Given the description of an element on the screen output the (x, y) to click on. 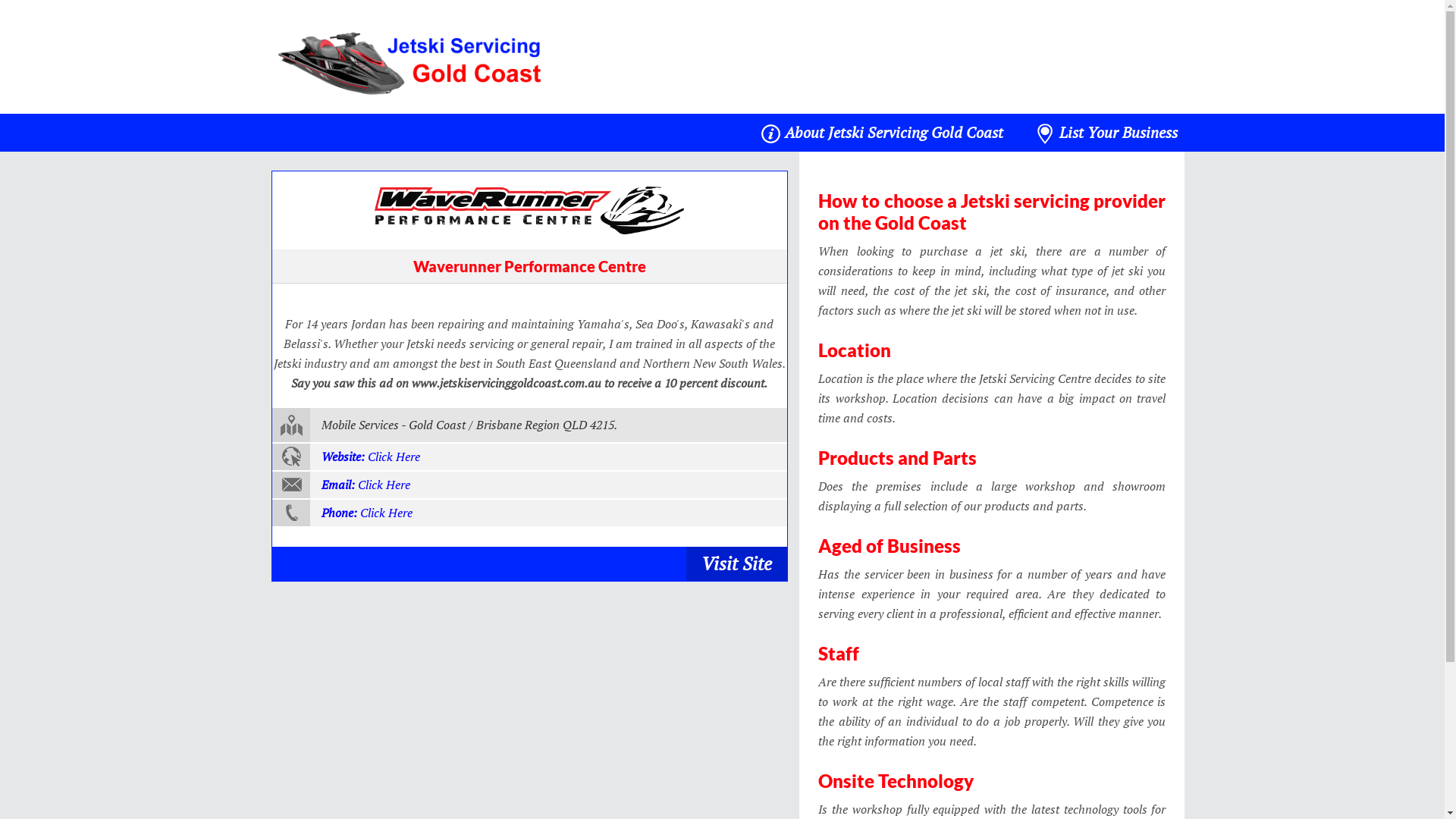
Jetski Servicing Gold Coast Element type: hover (414, 62)
List Your Business Element type: text (1106, 132)
About Jetski Servicing Gold Coast Element type: text (881, 132)
Phone: Click Here Element type: text (529, 513)
Email: Click Here Element type: text (529, 485)
K&B Security Doors and Shutters Element type: hover (529, 210)
Mobile Services - Gold Coast / Brisbane Region QLD 4215. Element type: text (529, 425)
Visit Site Element type: text (736, 563)
Website: Click Here Element type: text (529, 457)
